Given the description of an element on the screen output the (x, y) to click on. 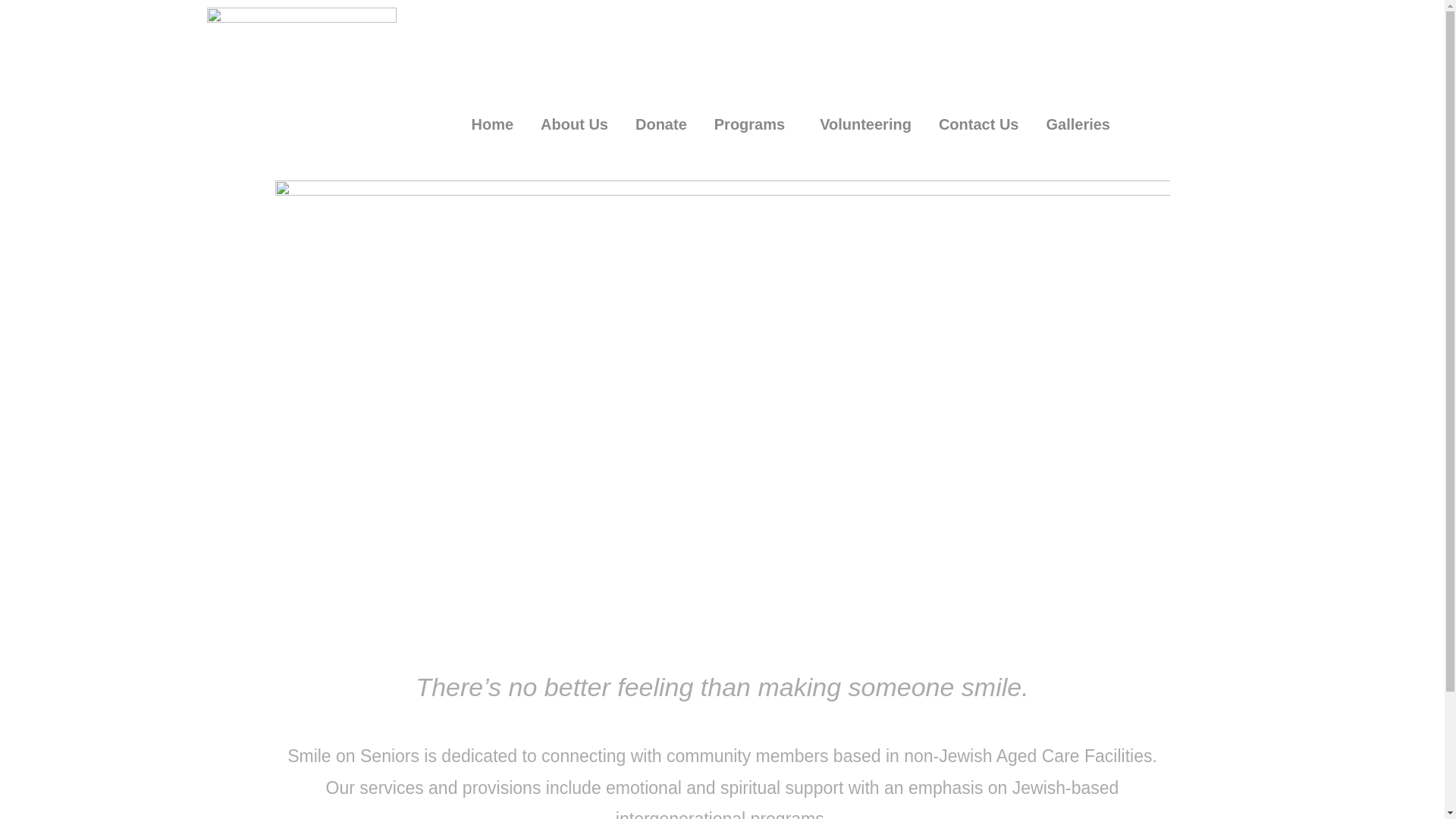
Galleries Element type: text (1081, 124)
Donate Element type: text (660, 124)
Contact Us Element type: text (978, 124)
About Us Element type: text (574, 124)
Volunteering Element type: text (865, 124)
Programs Element type: text (753, 124)
Home Element type: text (492, 124)
